Given the description of an element on the screen output the (x, y) to click on. 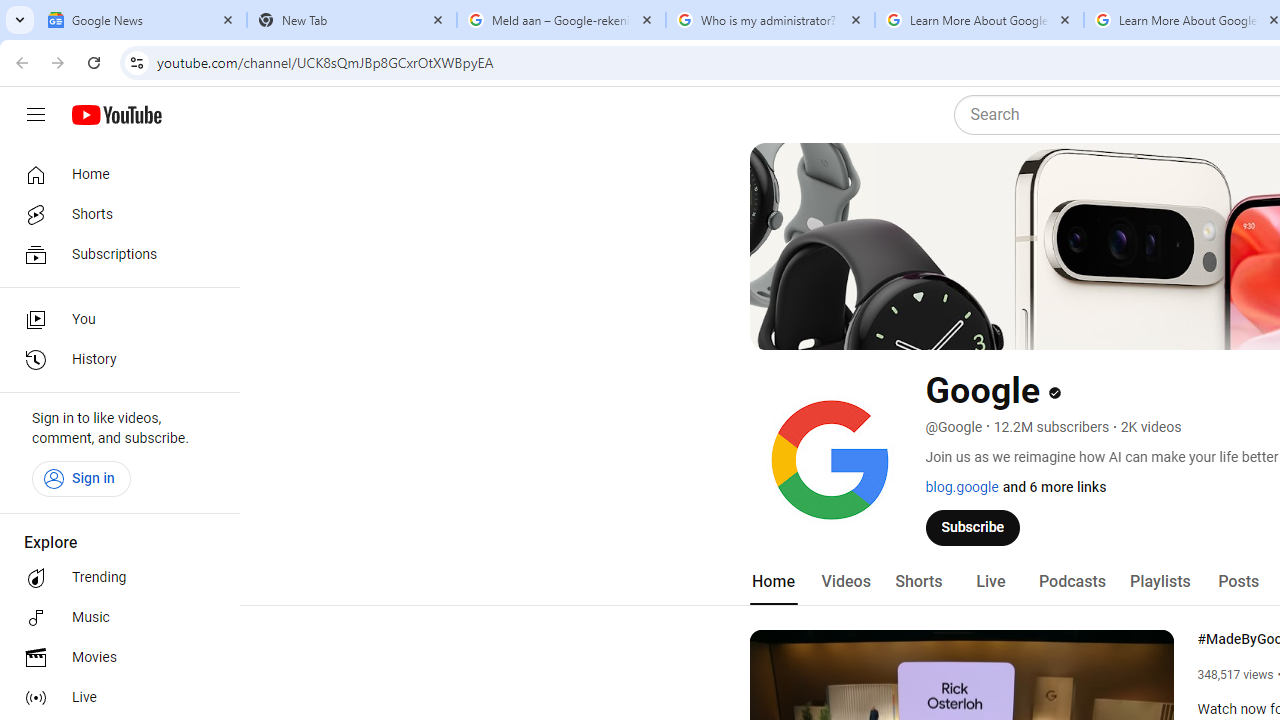
Home (772, 581)
Subscribe (973, 527)
Live (990, 581)
Guide (35, 115)
Shorts (113, 214)
Home (113, 174)
YouTube Home (116, 115)
Who is my administrator? - Google Account Help (770, 20)
New Tab (351, 20)
Playlists (1160, 581)
Podcasts (1072, 581)
